Given the description of an element on the screen output the (x, y) to click on. 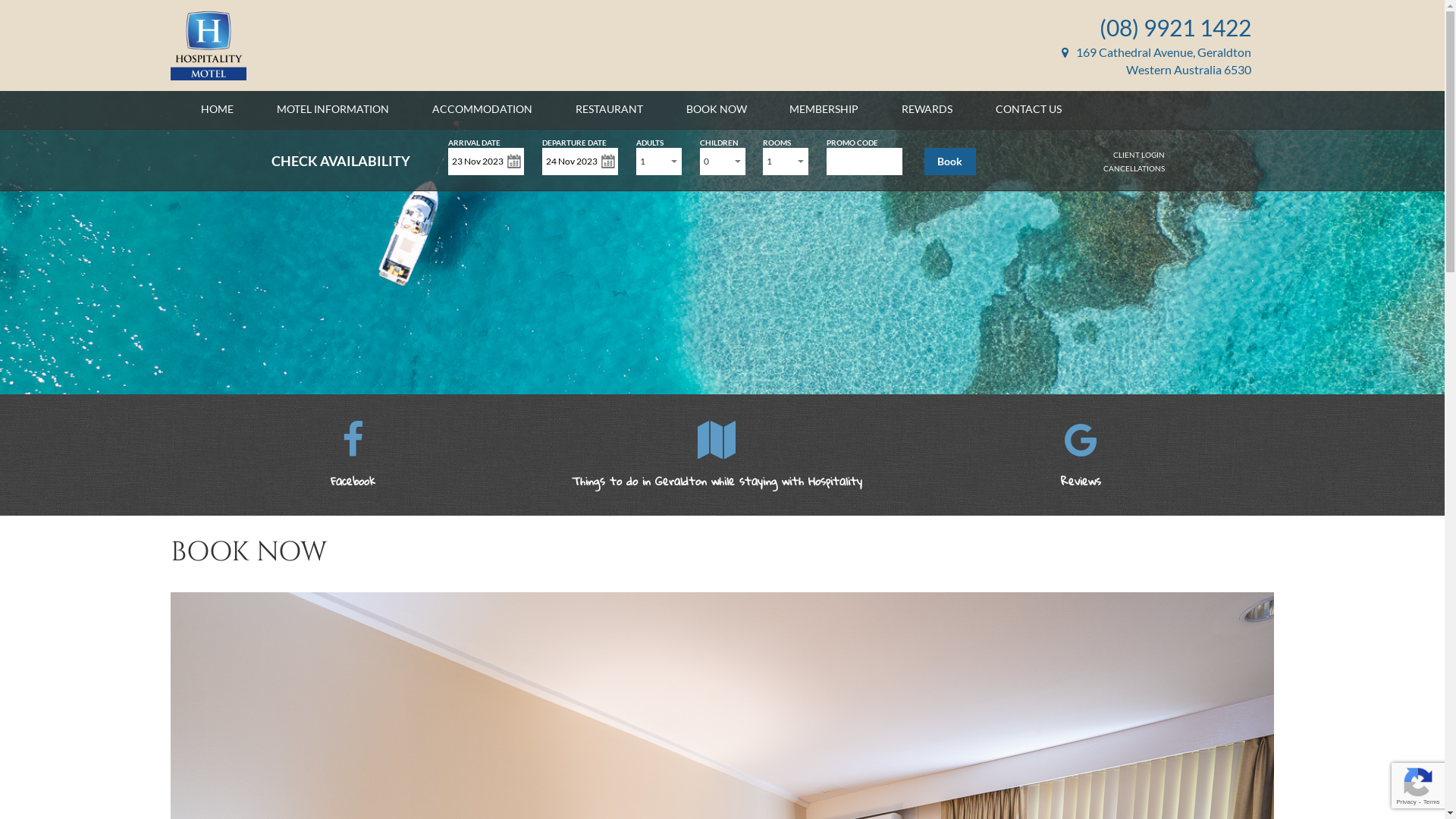
CONTACT US Element type: text (1028, 109)
MEMBERSHIP Element type: text (823, 109)
169 Cathedral Avenue, Geraldton
Western Australia 6530 Element type: text (1156, 60)
CLIENT LOGIN Element type: text (1138, 154)
MOTEL INFORMATION Element type: text (332, 109)
Facebook Element type: text (352, 465)
HOME Element type: text (216, 109)
CANCELLATIONS Element type: text (1133, 167)
Book Element type: text (949, 161)
RESTAURANT Element type: text (609, 109)
BOOK NOW Element type: text (716, 109)
Reviews Element type: text (1080, 496)
REWARDS Element type: text (926, 109)
(08) 9921 1422 Element type: text (1175, 26)
ACCOMMODATION Element type: text (482, 109)
Things to do in Geraldton while staying with Hospitality Element type: text (716, 465)
